Given the description of an element on the screen output the (x, y) to click on. 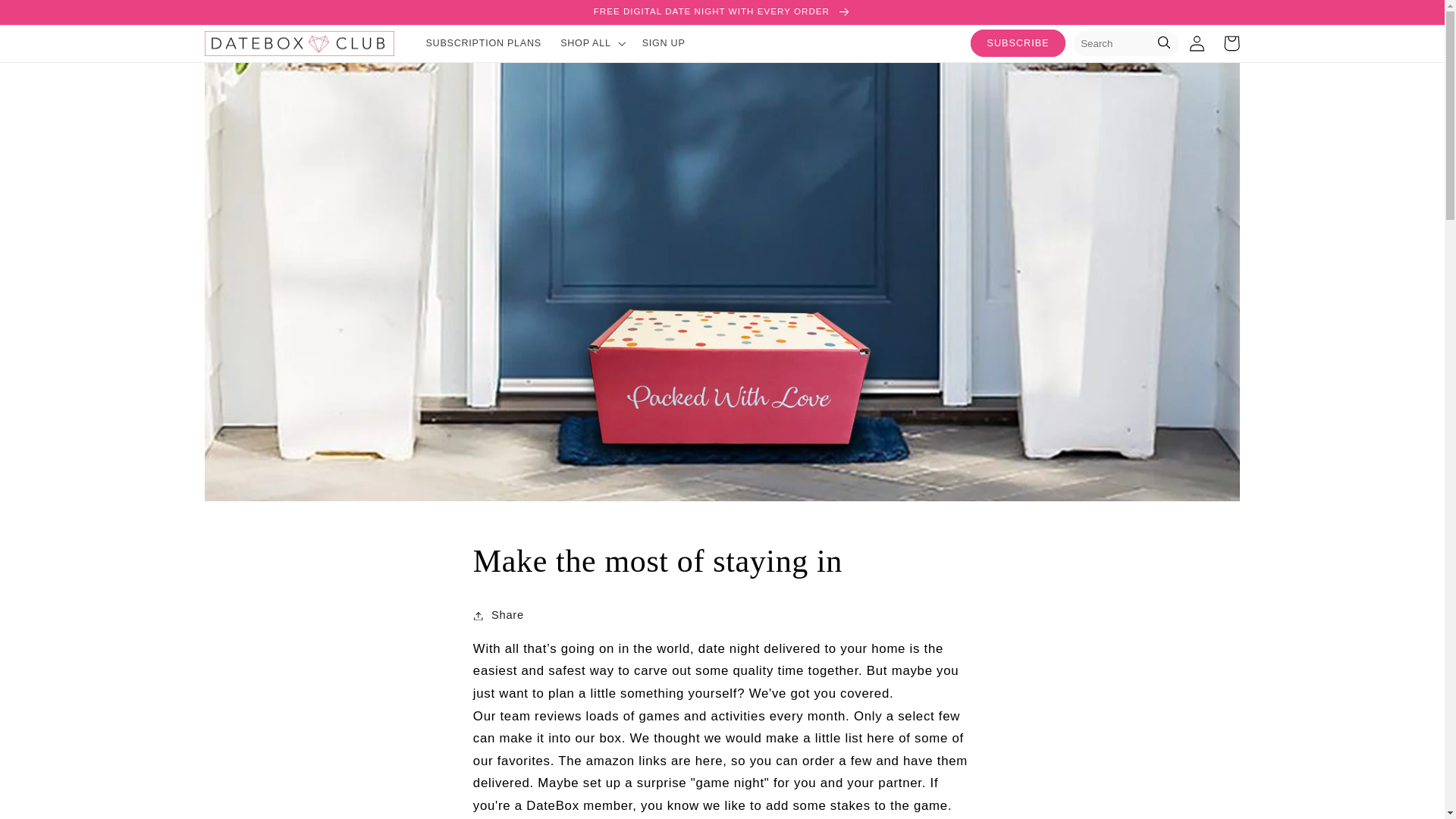
SUBSCRIPTION PLANS (483, 42)
Cart (1231, 42)
Account (1196, 42)
SIGN UP (662, 42)
Search (1163, 43)
SUBSCRIBE (1017, 42)
Skip to content (48, 18)
